Given the description of an element on the screen output the (x, y) to click on. 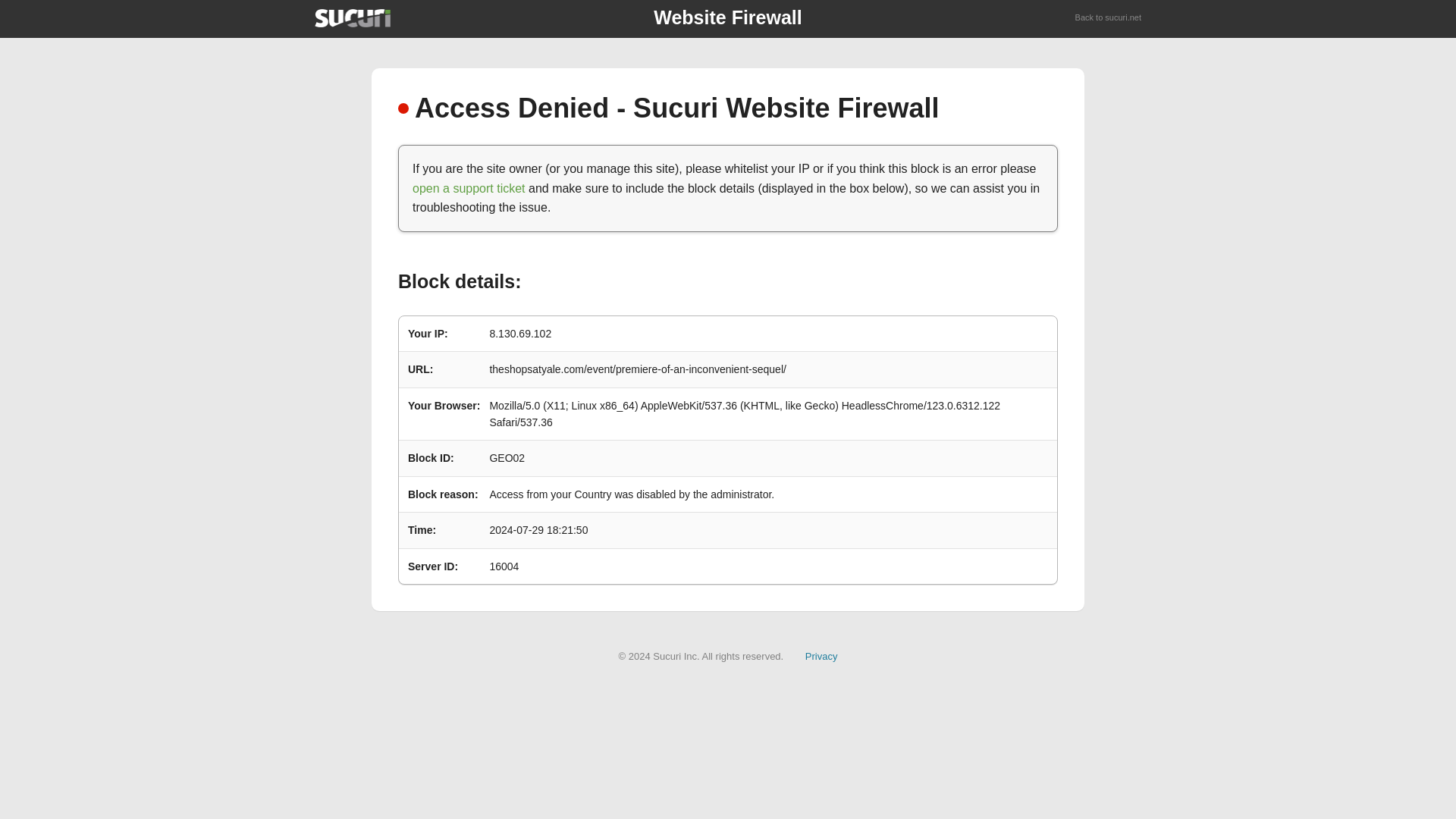
Back to sucuri.net (1108, 18)
Privacy (821, 655)
open a support ticket (468, 187)
